Given the description of an element on the screen output the (x, y) to click on. 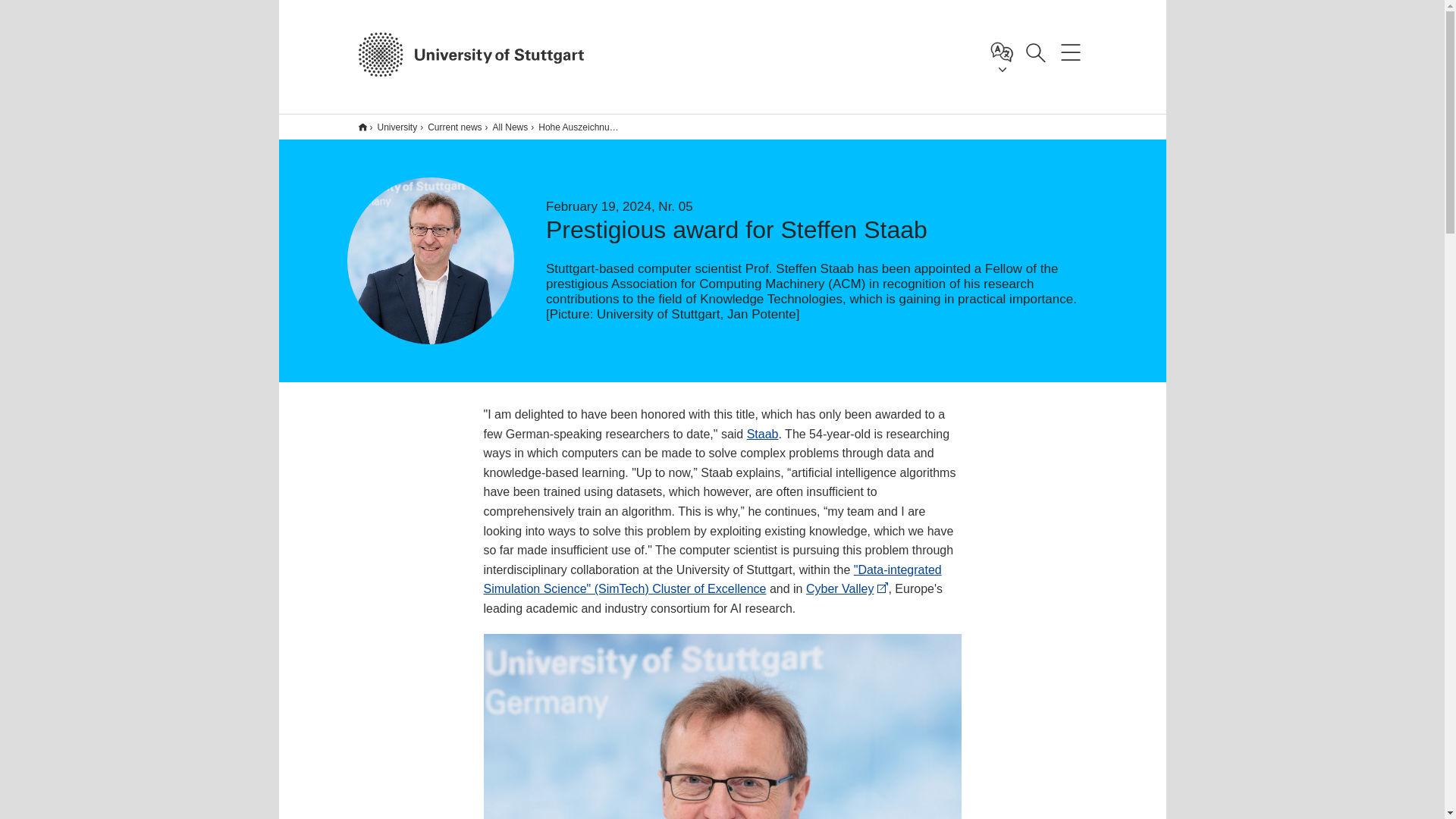
Current news (450, 126)
search (1049, 147)
University (391, 126)
Main navigation (1070, 51)
Current news (448, 126)
All News (506, 126)
Search (1035, 51)
All News (504, 126)
University (393, 126)
